Given the description of an element on the screen output the (x, y) to click on. 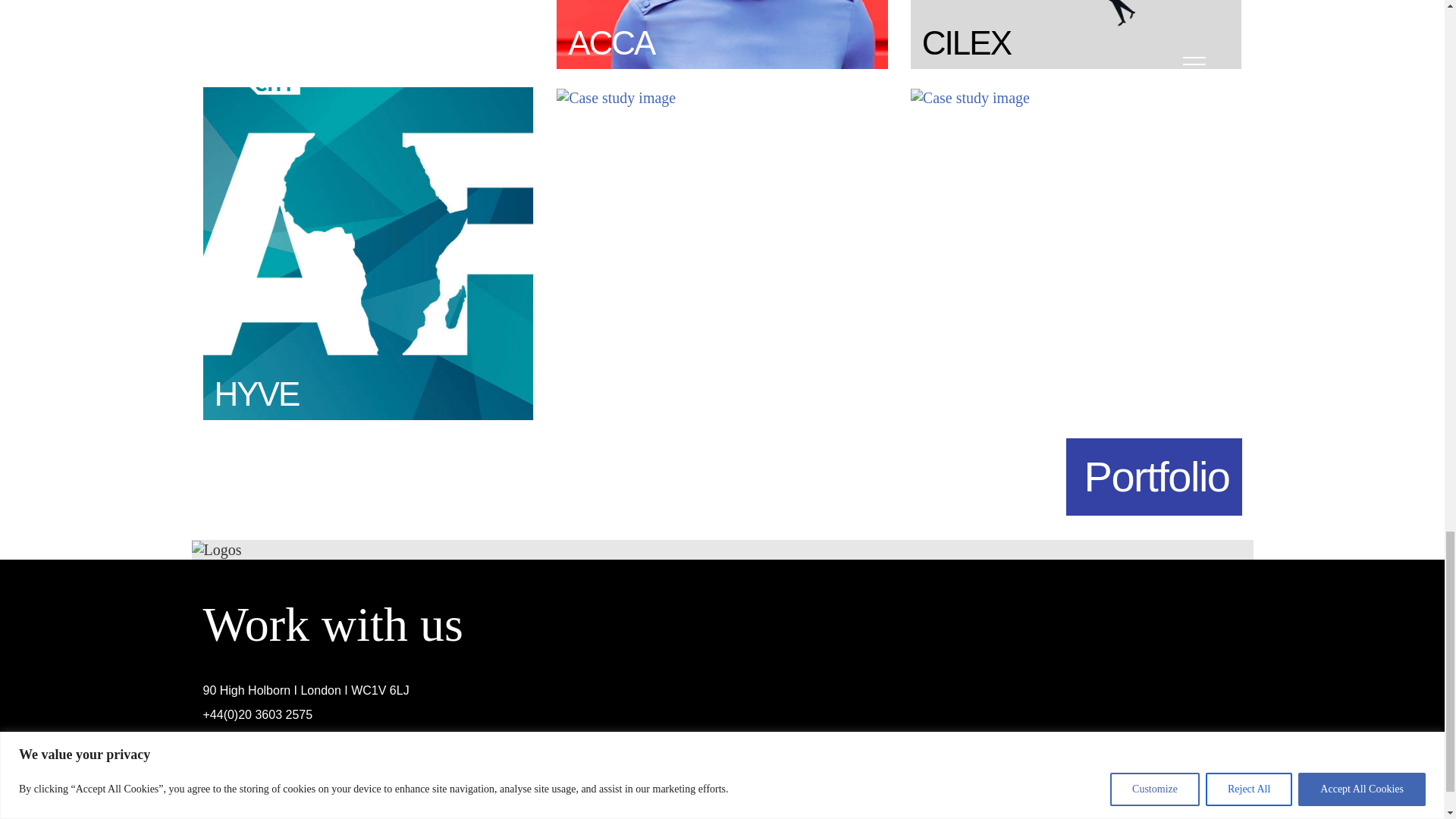
Privacy Policy (268, 815)
HYVE (368, 251)
METLIFE (970, 95)
Portfolio (1153, 476)
Cookie Policy (399, 815)
KELP (615, 95)
Linkedin (1218, 802)
